Given the description of an element on the screen output the (x, y) to click on. 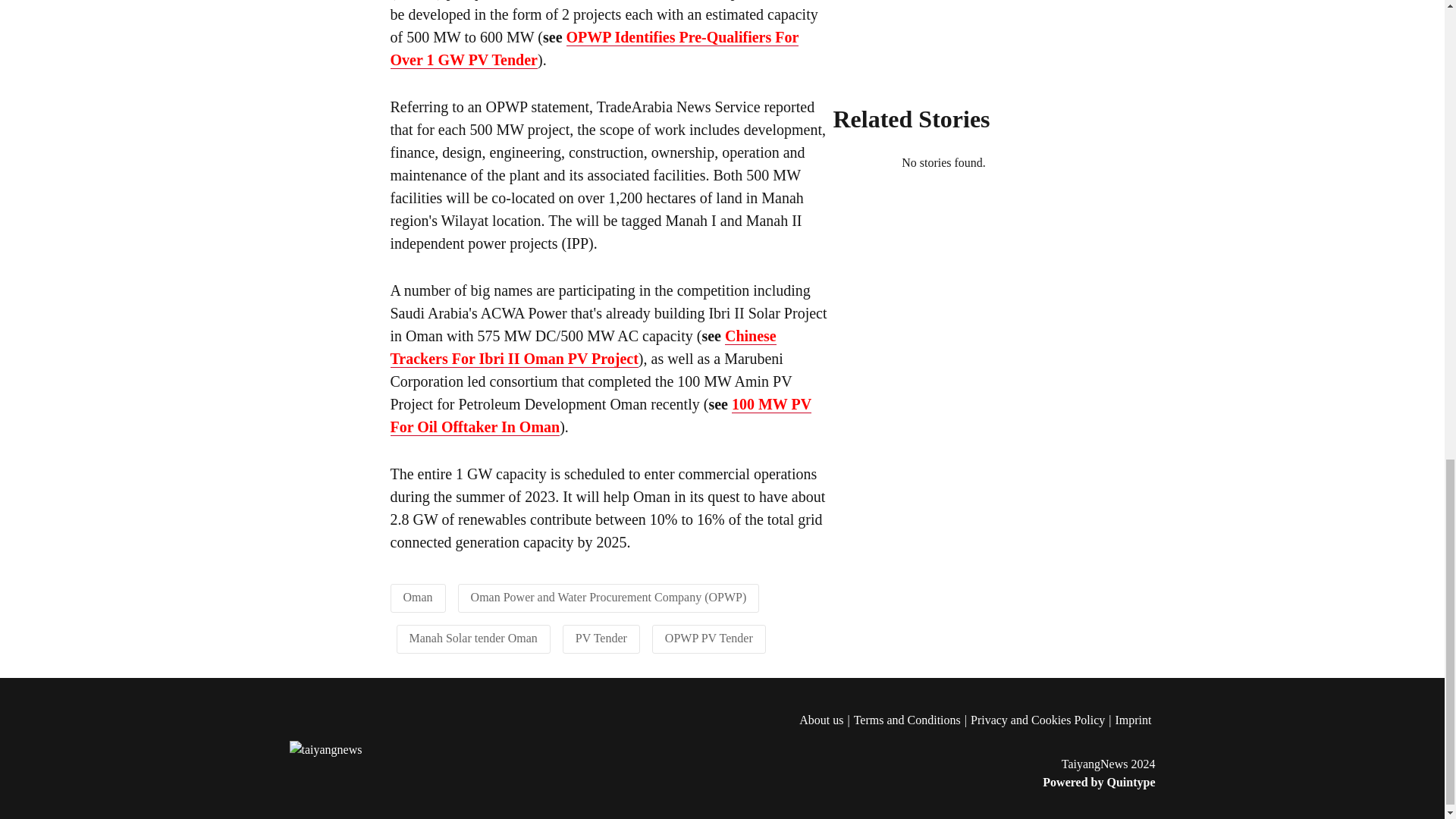
OPWP Identifies Pre-Qualifiers For Over 1 GW PV Tender (593, 47)
100 MW PV For Oil Offtaker In Oman (600, 414)
About us (826, 719)
Terms and Conditions (912, 719)
OPWP PV Tender (708, 637)
PV Tender (601, 637)
Oman (417, 596)
Manah Solar tender Oman (473, 637)
Privacy and Cookies Policy (1043, 719)
Chinese Trackers For Ibri II Oman PV Project (583, 346)
